Given the description of an element on the screen output the (x, y) to click on. 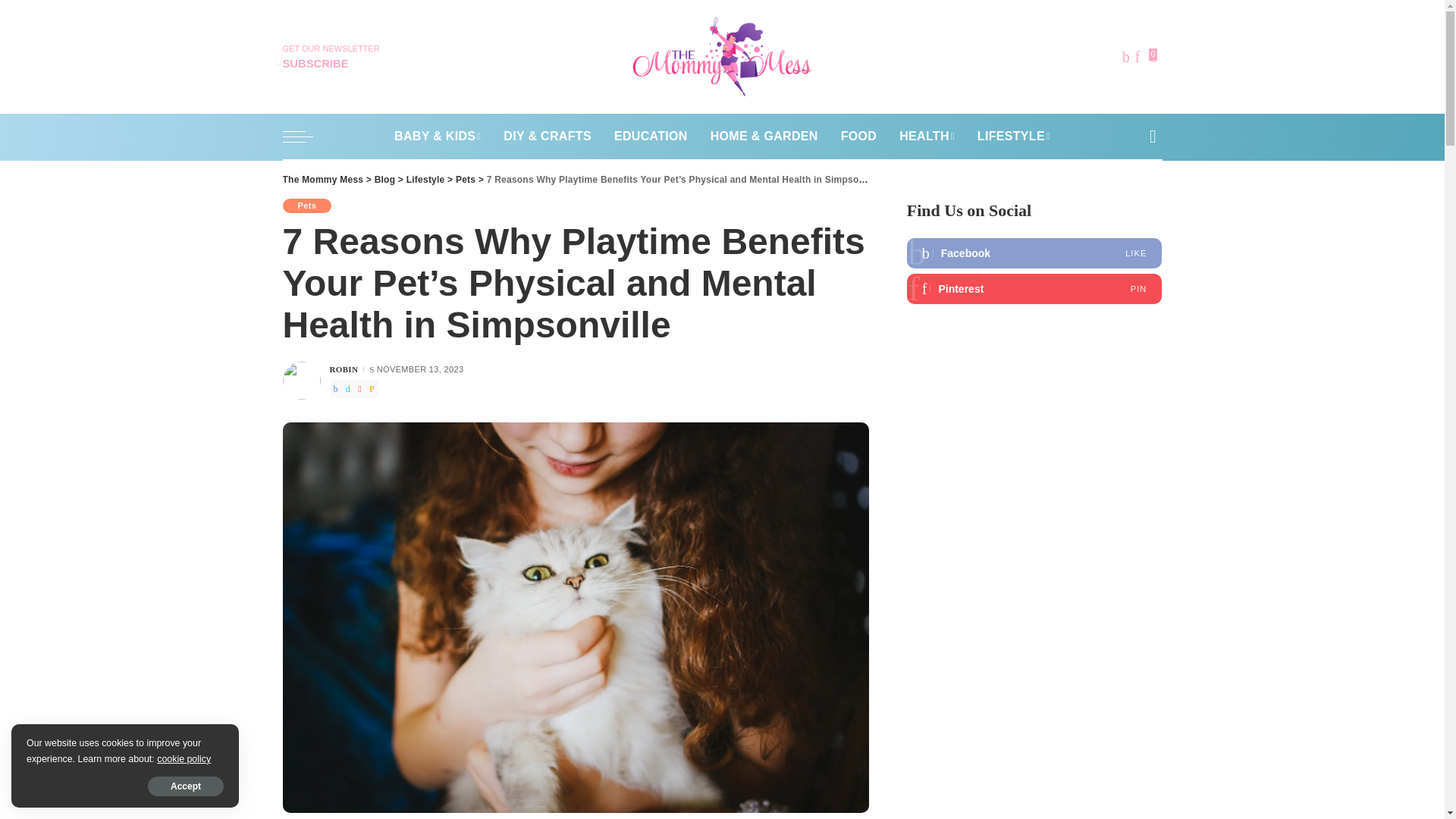
Go to the Pets Category archives. (465, 179)
The Mommy Mess (721, 56)
Go to the Lifestyle Category archives. (330, 57)
Go to The Mommy Mess. (425, 179)
Go to Blog. (322, 179)
EDUCATION (385, 179)
